Given the description of an element on the screen output the (x, y) to click on. 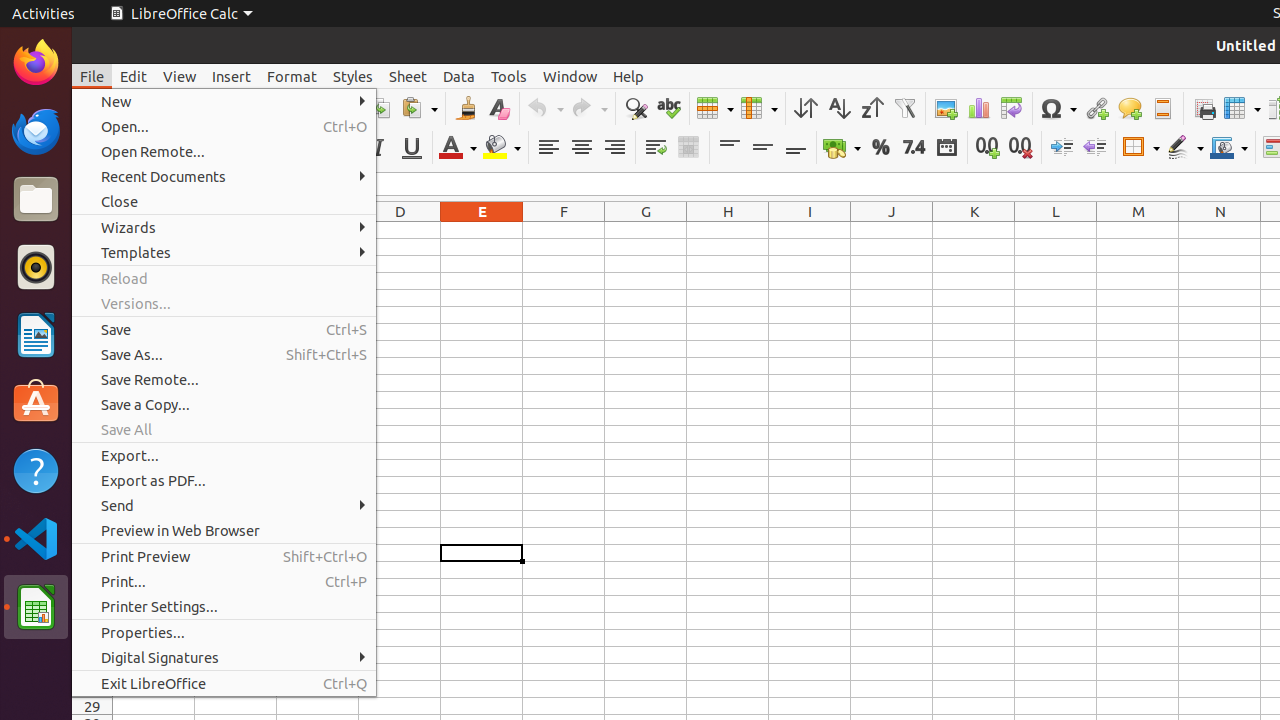
E1 Element type: table-cell (482, 230)
Export... Element type: menu-item (224, 455)
Font Color Element type: push-button (458, 147)
Align Right Element type: push-button (614, 147)
M1 Element type: table-cell (1138, 230)
